Given the description of an element on the screen output the (x, y) to click on. 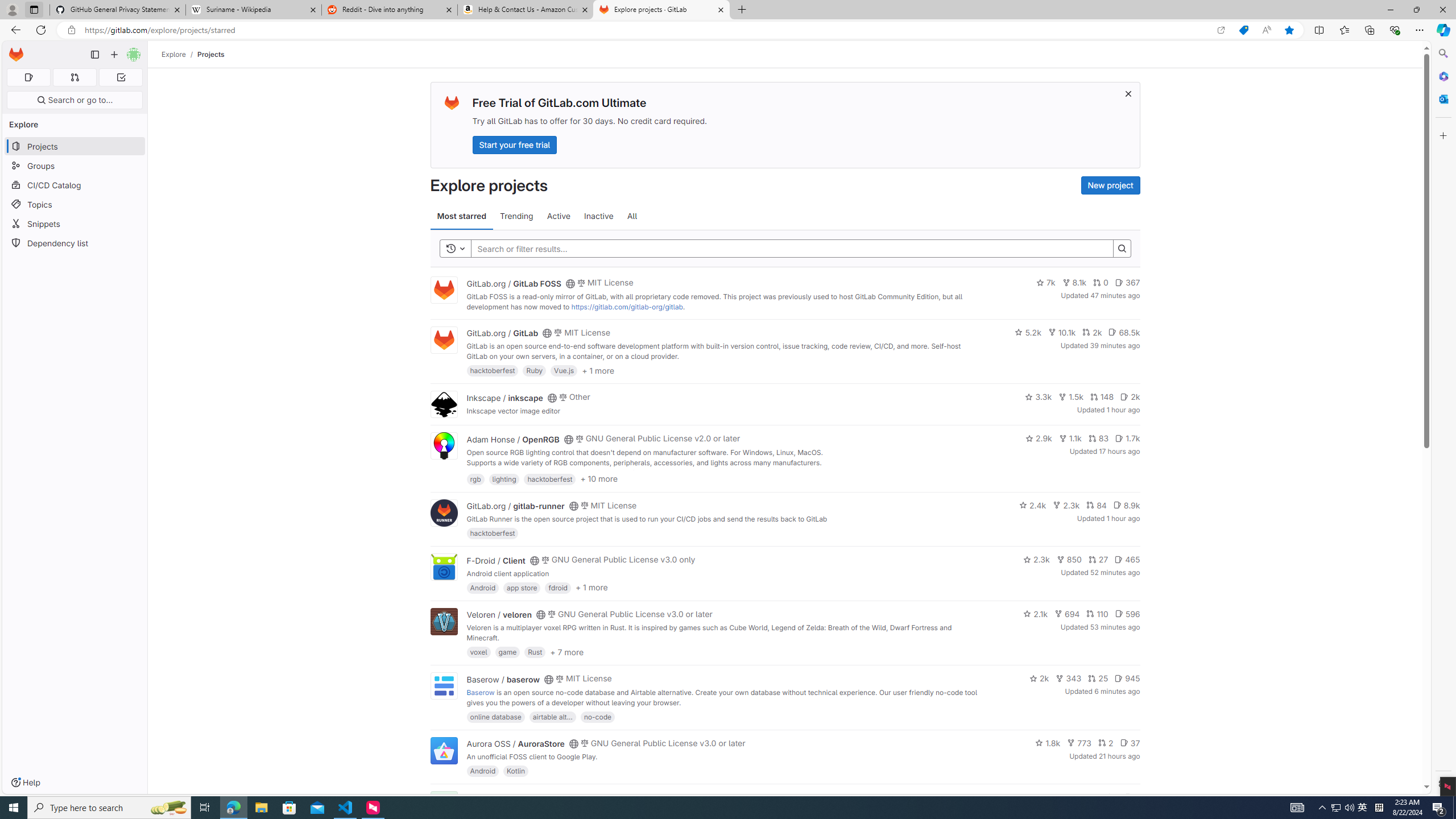
+ 7 more (566, 651)
voxel (478, 651)
110 (1097, 613)
+ 1 more (591, 587)
6 (1132, 797)
Assigned issues 0 (28, 76)
8.1k (1073, 282)
10.1k (1061, 331)
1.7k (1127, 438)
